Given the description of an element on the screen output the (x, y) to click on. 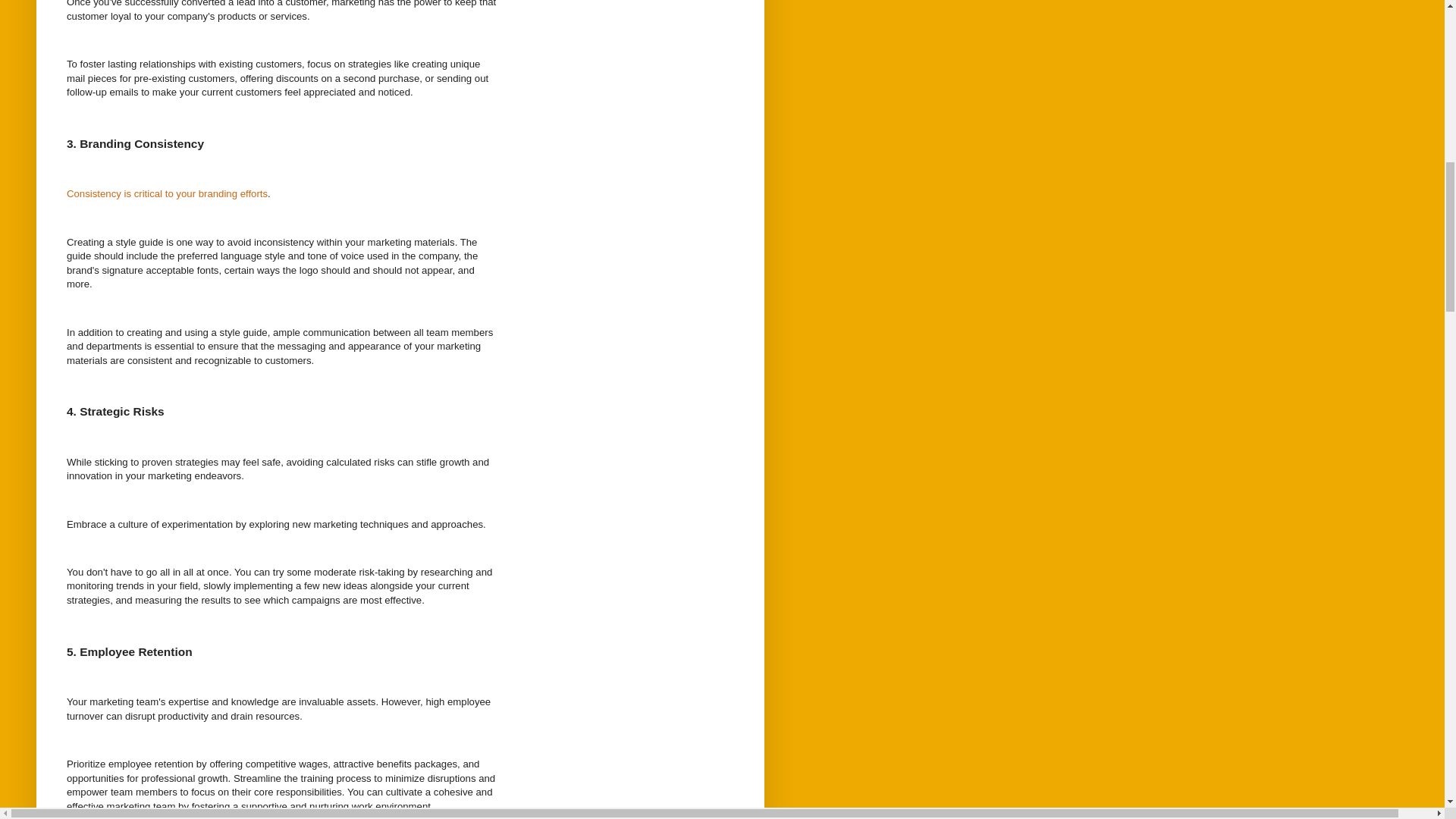
Consistency is critical to your branding efforts (166, 193)
